Given the description of an element on the screen output the (x, y) to click on. 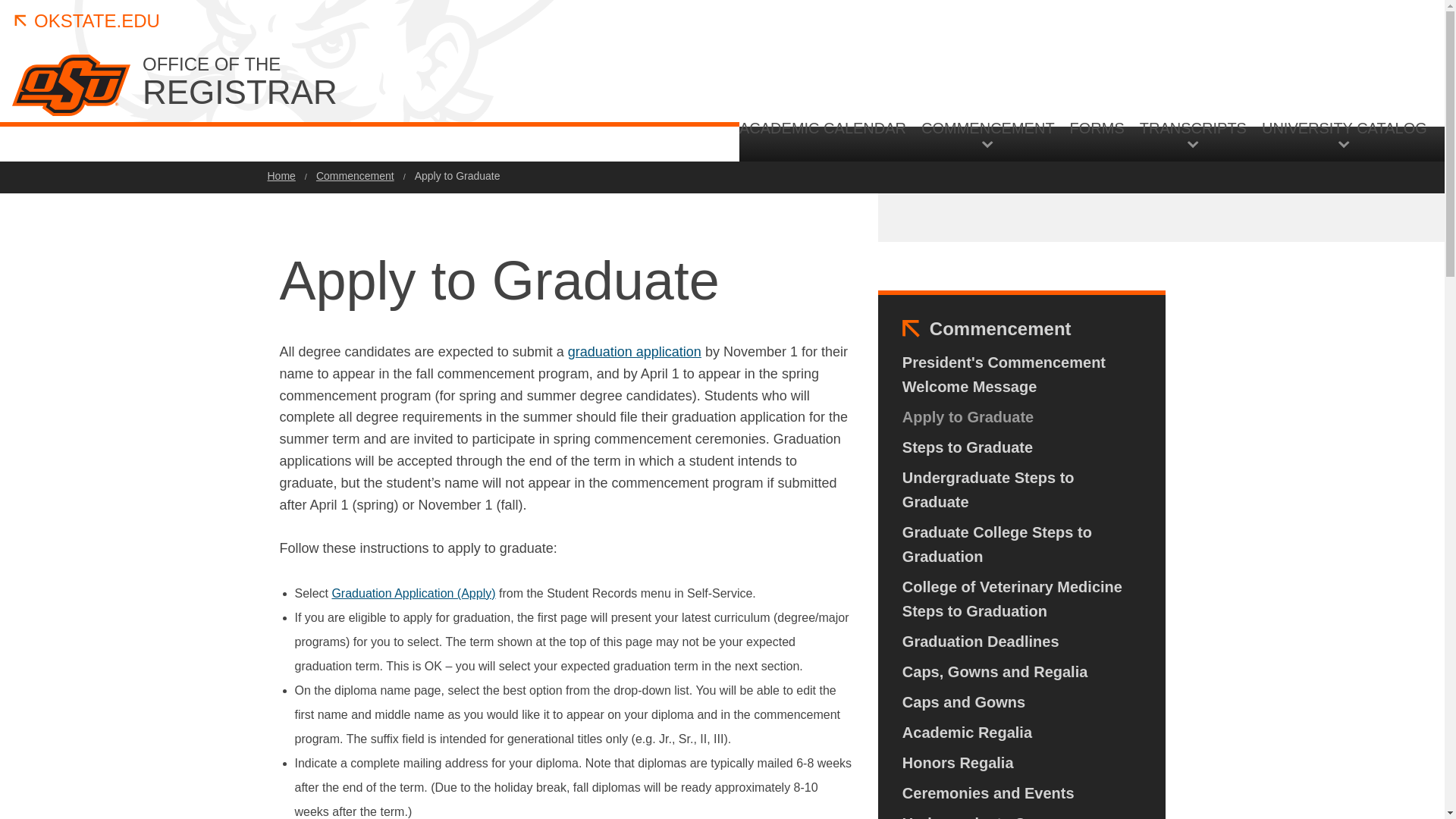
FORMS (1097, 139)
OKSTATE.EDU (85, 21)
ACADEMIC CALENDAR (826, 139)
COMMENCEMENT (988, 133)
Search (417, 82)
TRANSCRIPTS (1344, 267)
